Given the description of an element on the screen output the (x, y) to click on. 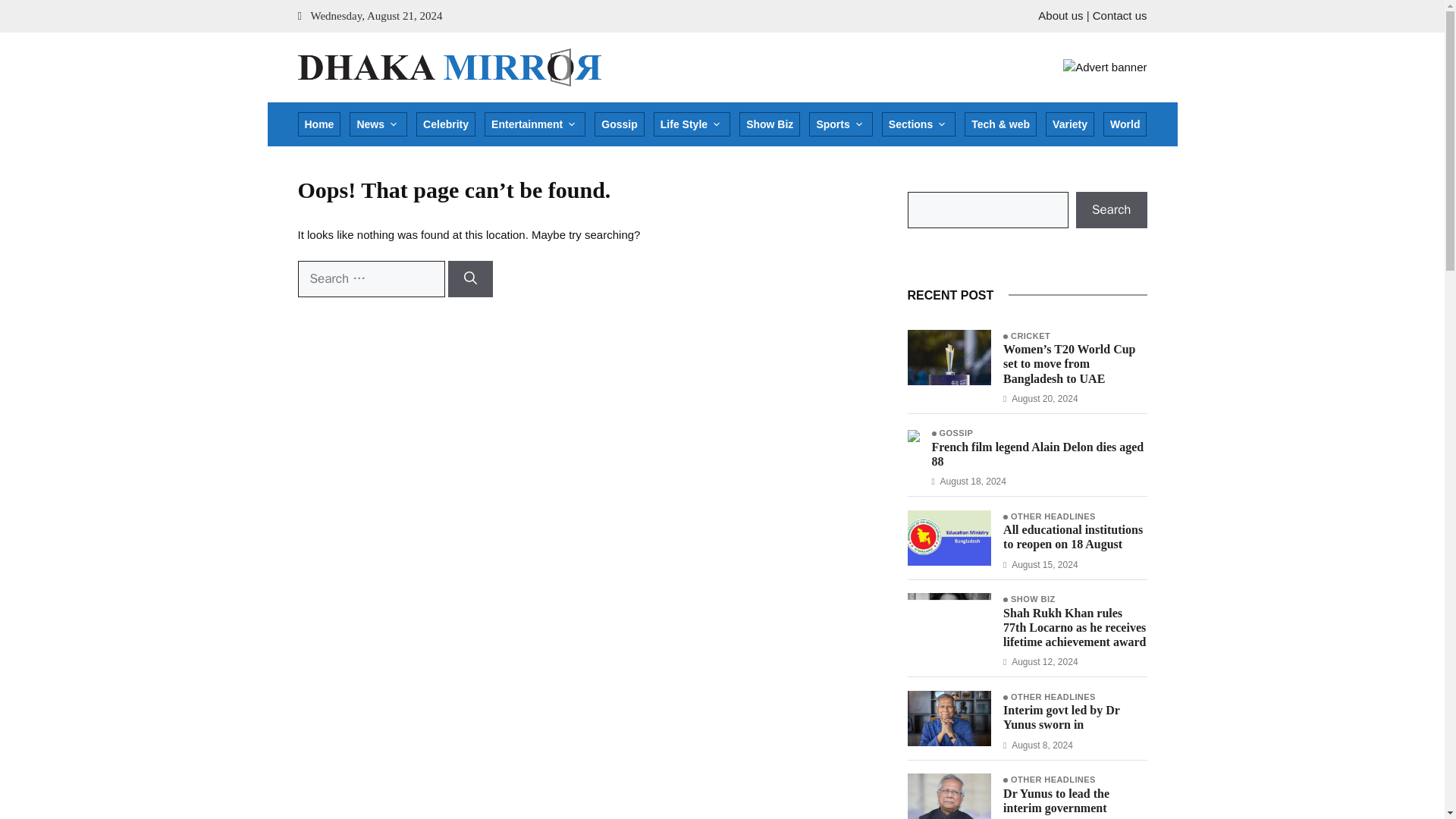
Contact us (1120, 15)
News (378, 124)
Home (318, 124)
Gossip (618, 124)
Celebrity (446, 124)
Entertainment (534, 124)
Search for: (370, 279)
Sections (918, 124)
Show Biz (769, 124)
Life Style (691, 124)
